Given the description of an element on the screen output the (x, y) to click on. 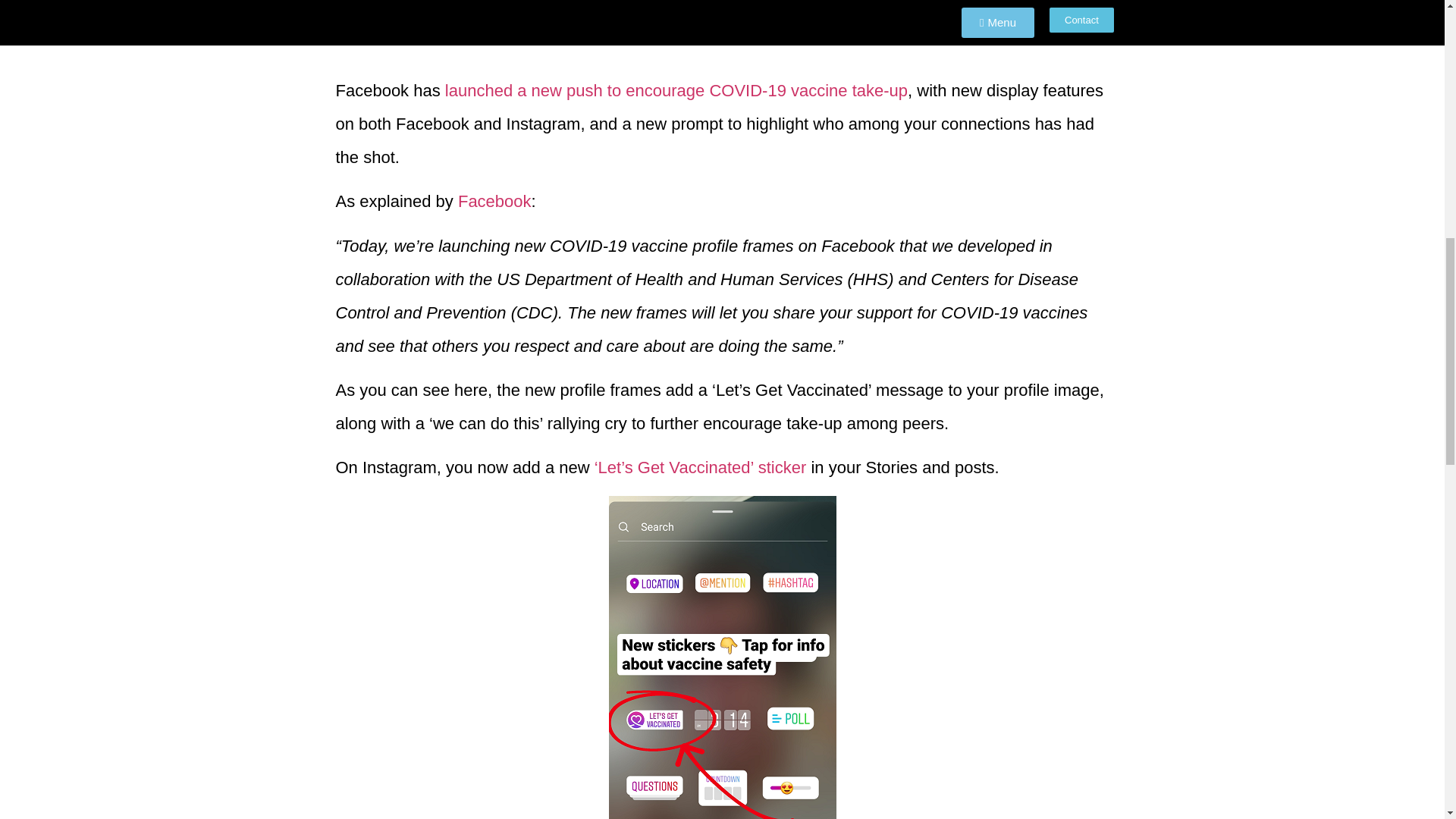
Facebook (494, 200)
launched a new push to encourage COVID-19 vaccine take-up (676, 90)
Social Media Today (670, 6)
April 2, 2021 (790, 6)
